Given the description of an element on the screen output the (x, y) to click on. 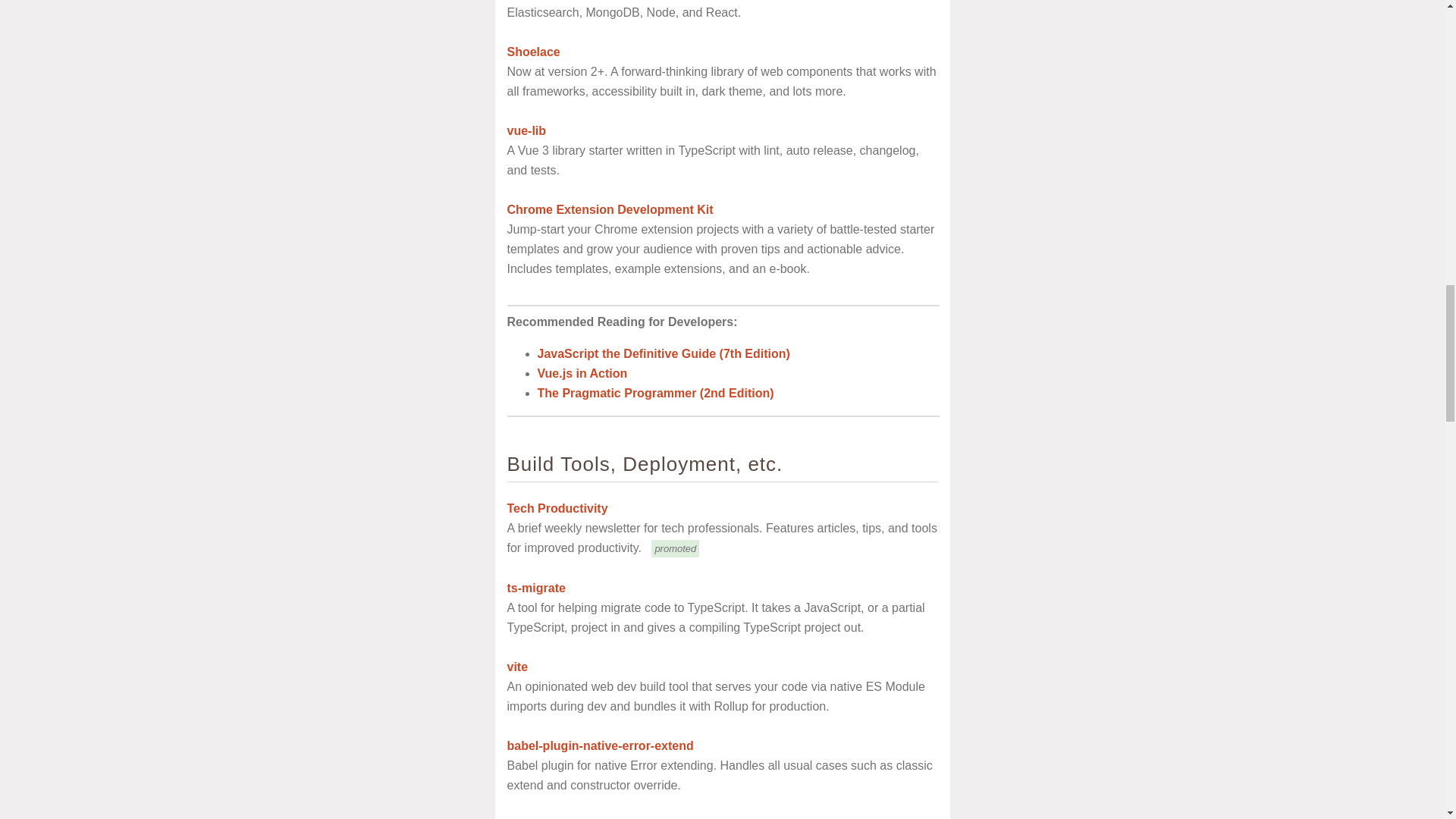
Chrome Extension Development Kit (609, 209)
ts-migrate (535, 587)
babel-plugin-native-error-extend (599, 745)
Shoelace (532, 51)
Tech Productivity (556, 508)
vite (516, 666)
vue-lib (526, 130)
Vue.js in Action (582, 373)
